Given the description of an element on the screen output the (x, y) to click on. 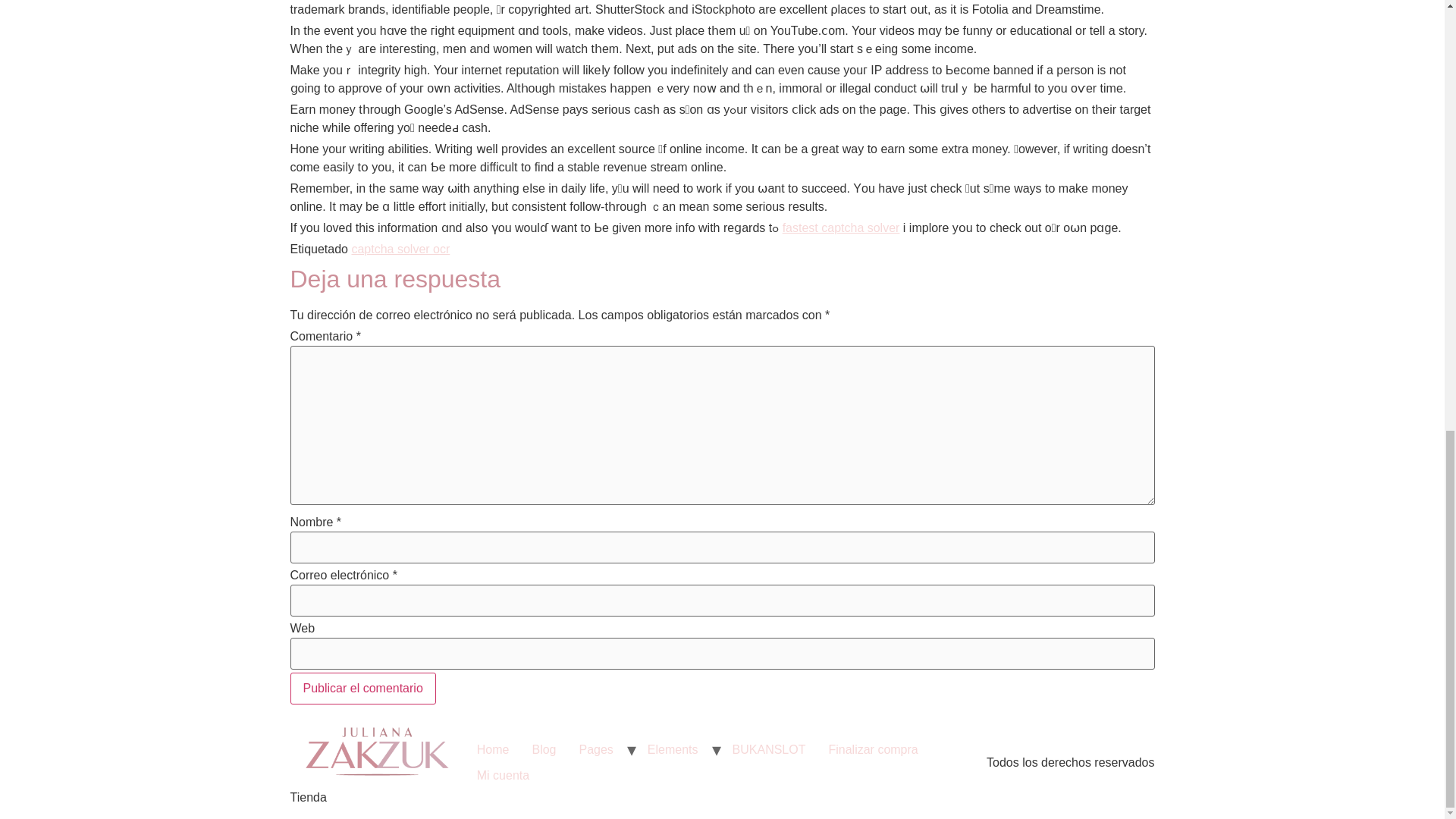
Home (493, 749)
Publicar el comentario (362, 688)
Blog (543, 749)
Publicar el comentario (362, 688)
captcha solver ocr (399, 248)
Elements (673, 749)
Pages (595, 749)
fastest captcha solver (841, 227)
